Given the description of an element on the screen output the (x, y) to click on. 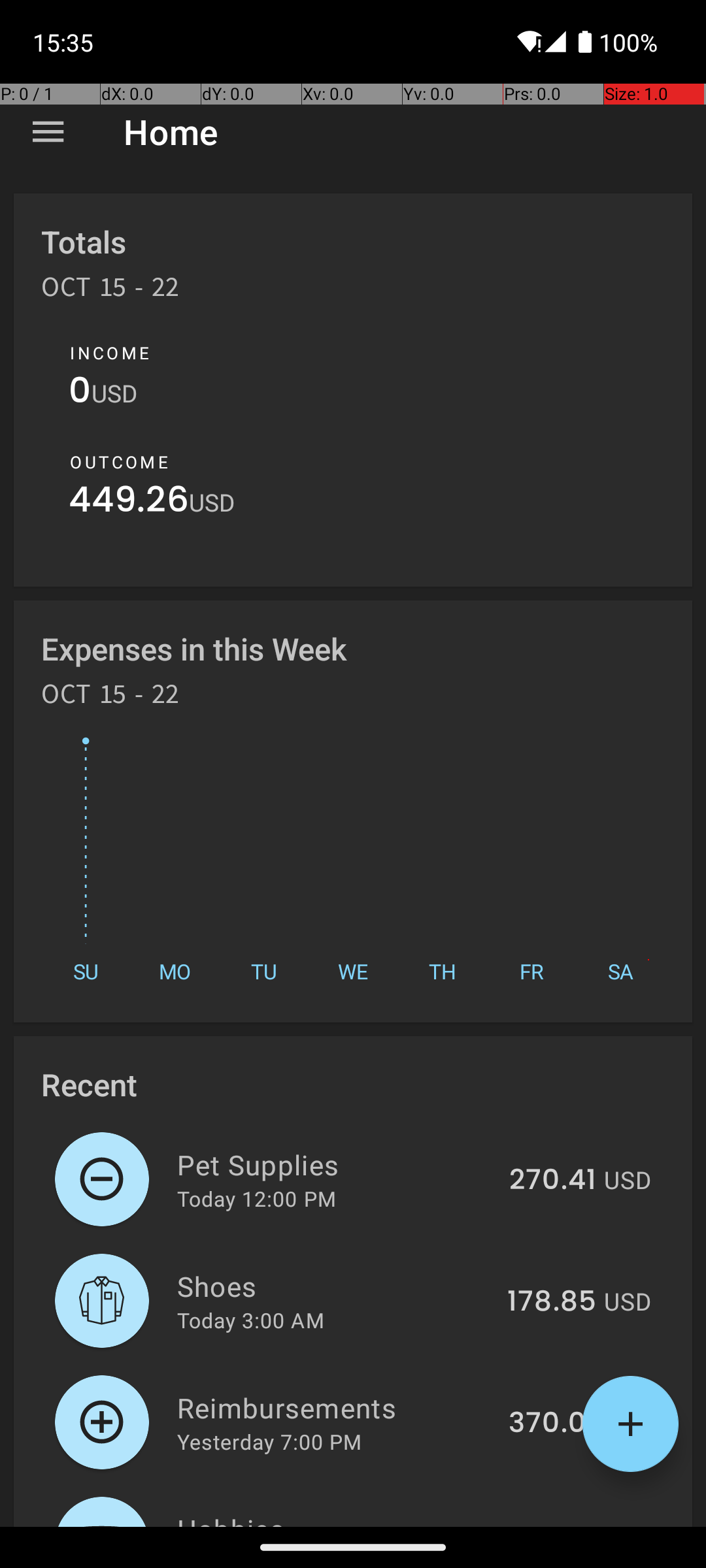
449.26 Element type: android.widget.TextView (128, 502)
Pet Supplies Element type: android.widget.TextView (335, 1164)
Today 12:00 PM Element type: android.widget.TextView (256, 1198)
270.41 Element type: android.widget.TextView (552, 1180)
Shoes Element type: android.widget.TextView (334, 1285)
Today 3:00 AM Element type: android.widget.TextView (250, 1320)
178.85 Element type: android.widget.TextView (551, 1301)
Reimbursements Element type: android.widget.TextView (335, 1407)
Yesterday 7:00 PM Element type: android.widget.TextView (269, 1441)
370.01 Element type: android.widget.TextView (551, 1423)
Hobbies Element type: android.widget.TextView (331, 1518)
452.93 Element type: android.widget.TextView (548, 1524)
